Given the description of an element on the screen output the (x, y) to click on. 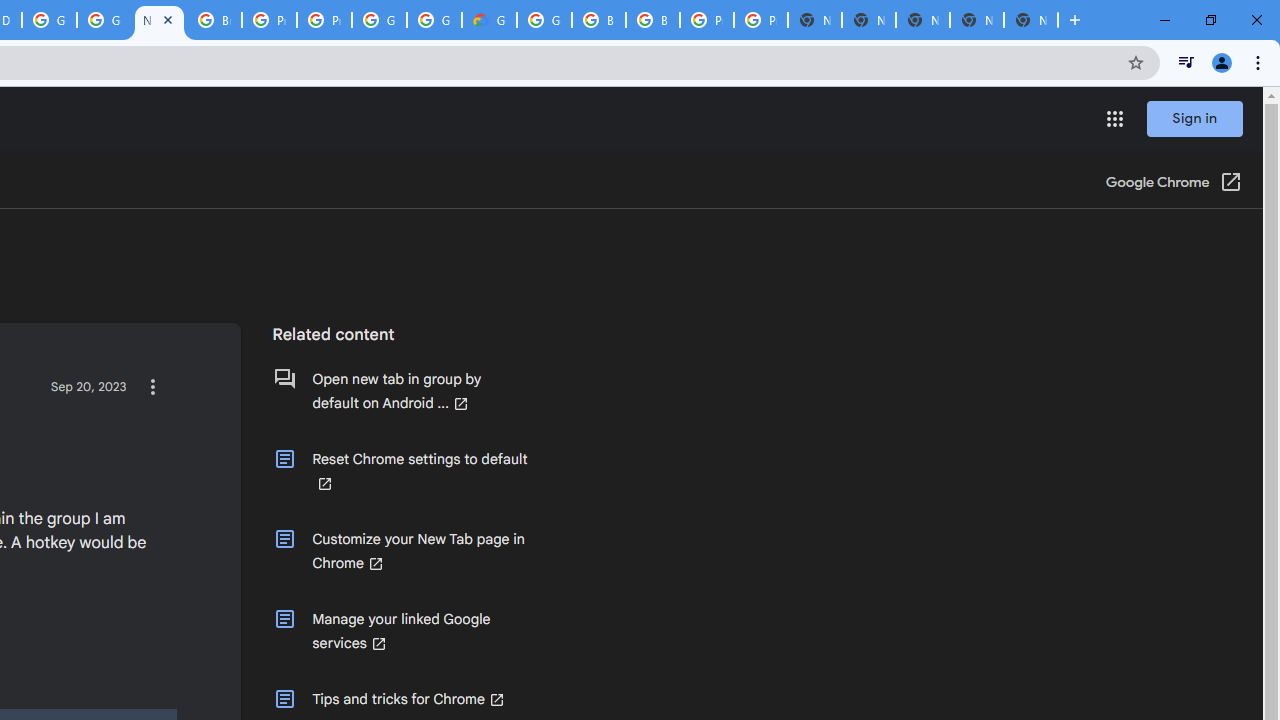
Reset Chrome settings to default (Opens in a new window) (400, 471)
New Tab (1030, 20)
Google Cloud Platform (48, 20)
Google Cloud Estimate Summary (489, 20)
Google Cloud Platform (379, 20)
New Tab within Group - Google Chrome Community (158, 20)
Action items for the question (152, 386)
